Given the description of an element on the screen output the (x, y) to click on. 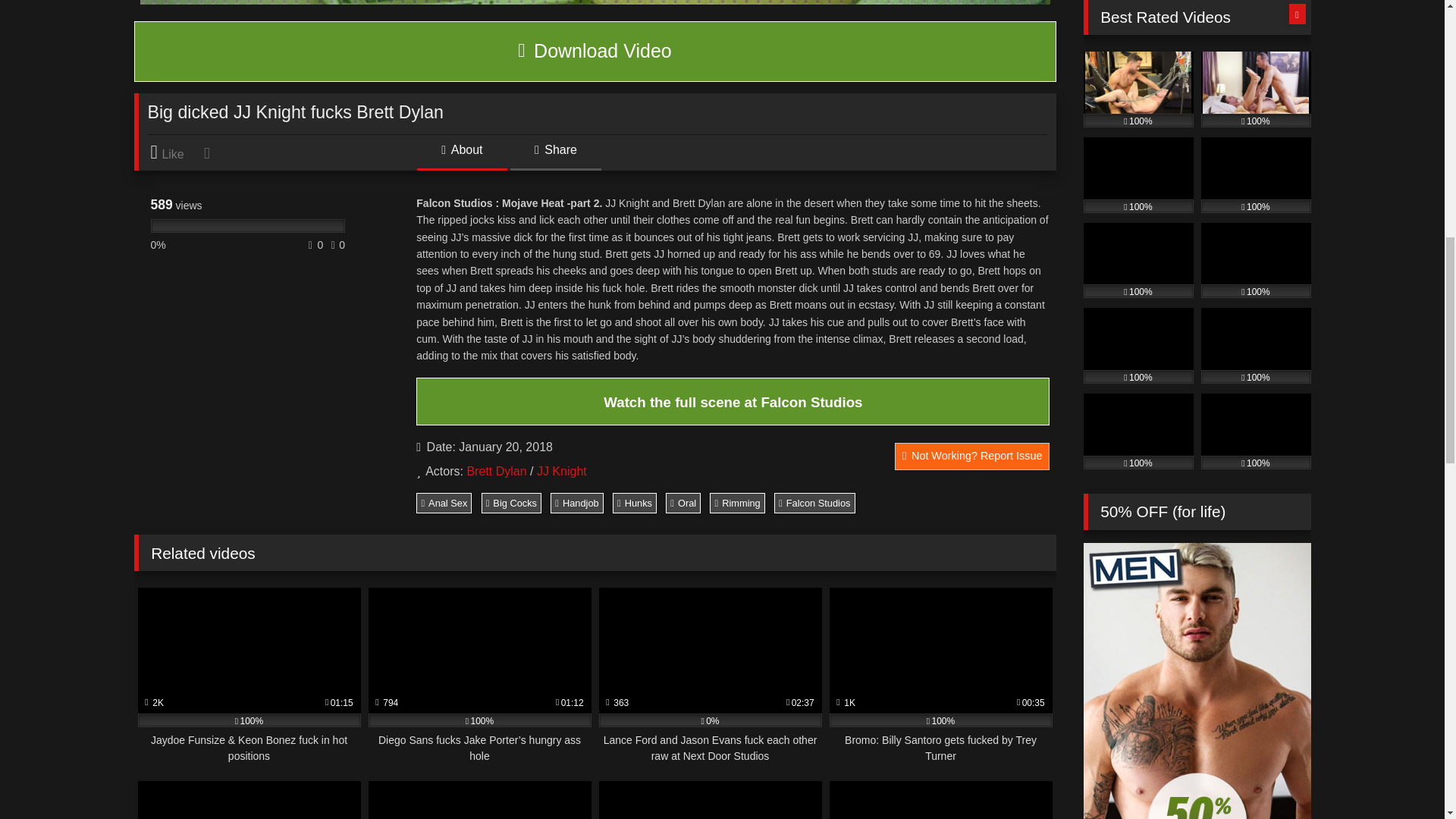
Download Video (594, 51)
Handjob (577, 502)
JJ Knight (561, 471)
Oral (682, 502)
I like this (174, 152)
About (461, 155)
Anal Sex (443, 502)
I dislike this (207, 152)
Big dicked JJ Knight fucks Brett Dylan (594, 51)
Not Working? Report Issue (972, 456)
Share (556, 155)
Big Cocks (511, 502)
Brett Dylan (495, 471)
Watch the full scene at Falcon Studios (732, 401)
Hunks (634, 502)
